Given the description of an element on the screen output the (x, y) to click on. 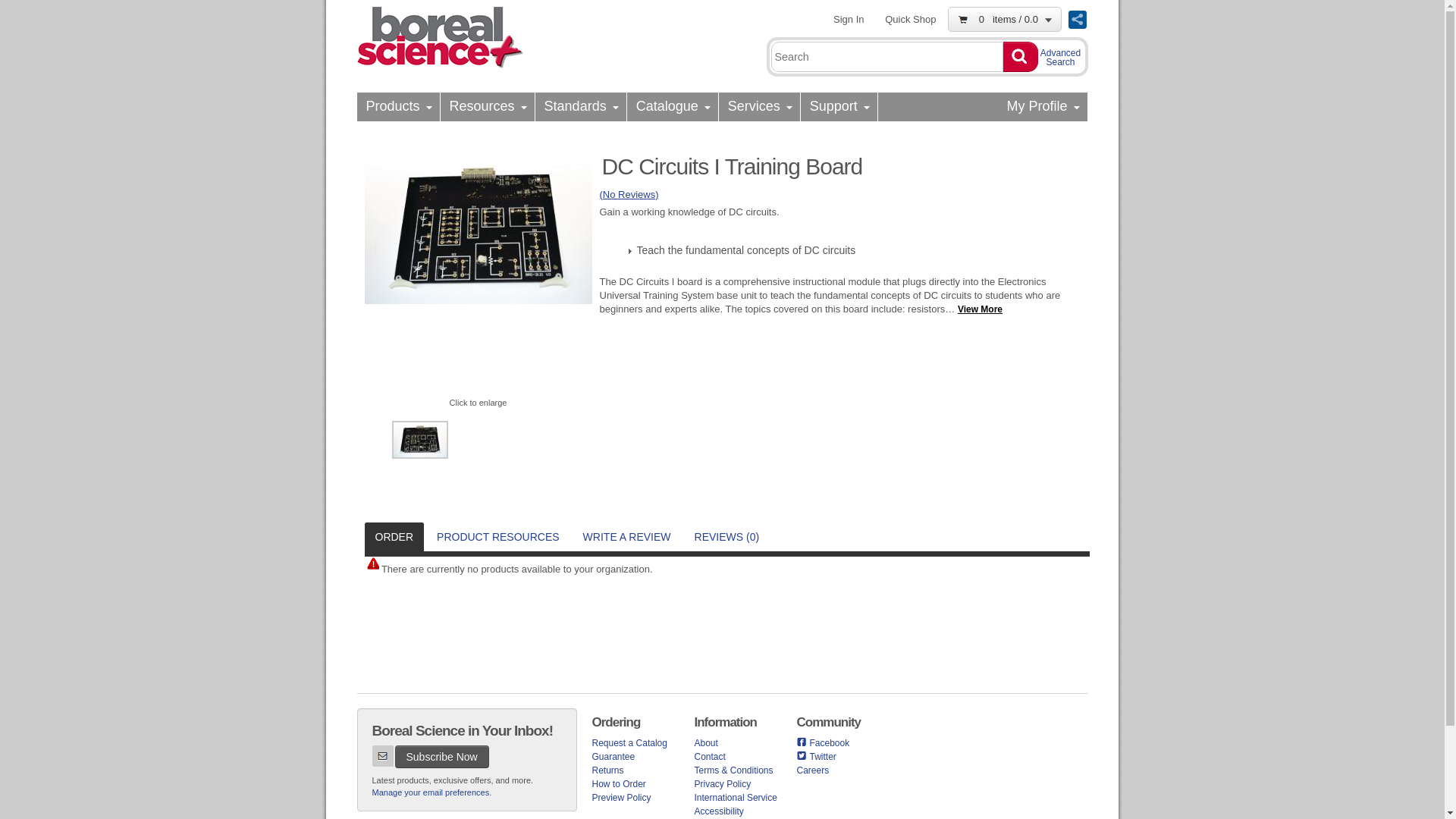
goButton (1019, 56)
Quick Shop (910, 19)
Advanced Search (1059, 53)
Sign In (848, 19)
Products (397, 106)
